Given the description of an element on the screen output the (x, y) to click on. 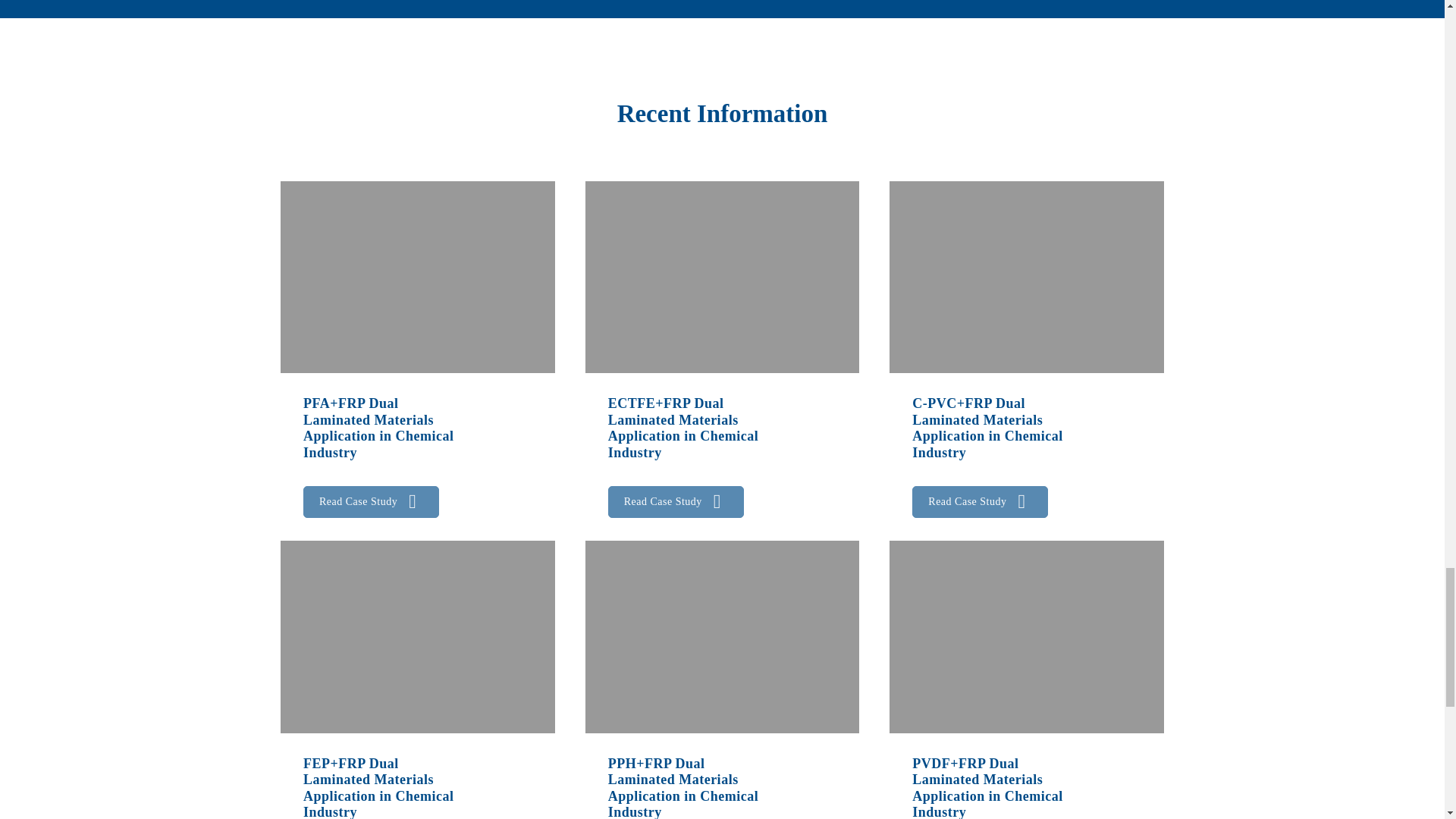
Read Case Study (370, 502)
Read Case Study (676, 502)
Read Case Study (370, 501)
Read Case Study (676, 501)
